Given the description of an element on the screen output the (x, y) to click on. 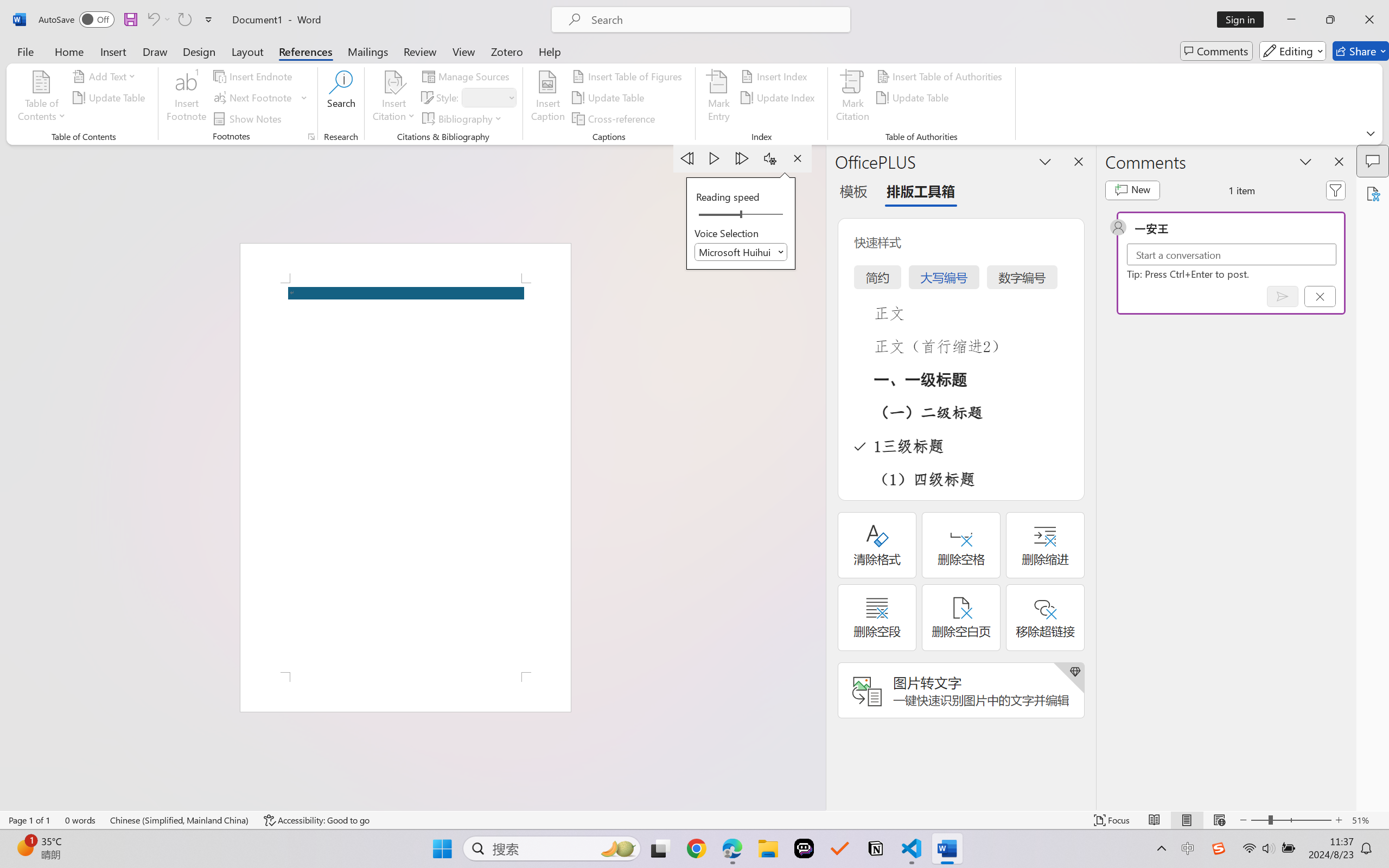
Insert Caption... (547, 97)
Undo Apply Quick Style Set (158, 19)
Page left (716, 214)
Add Text (106, 75)
Update Table... (110, 97)
Next Footnote (253, 97)
Mark Citation... (852, 97)
